Given the description of an element on the screen output the (x, y) to click on. 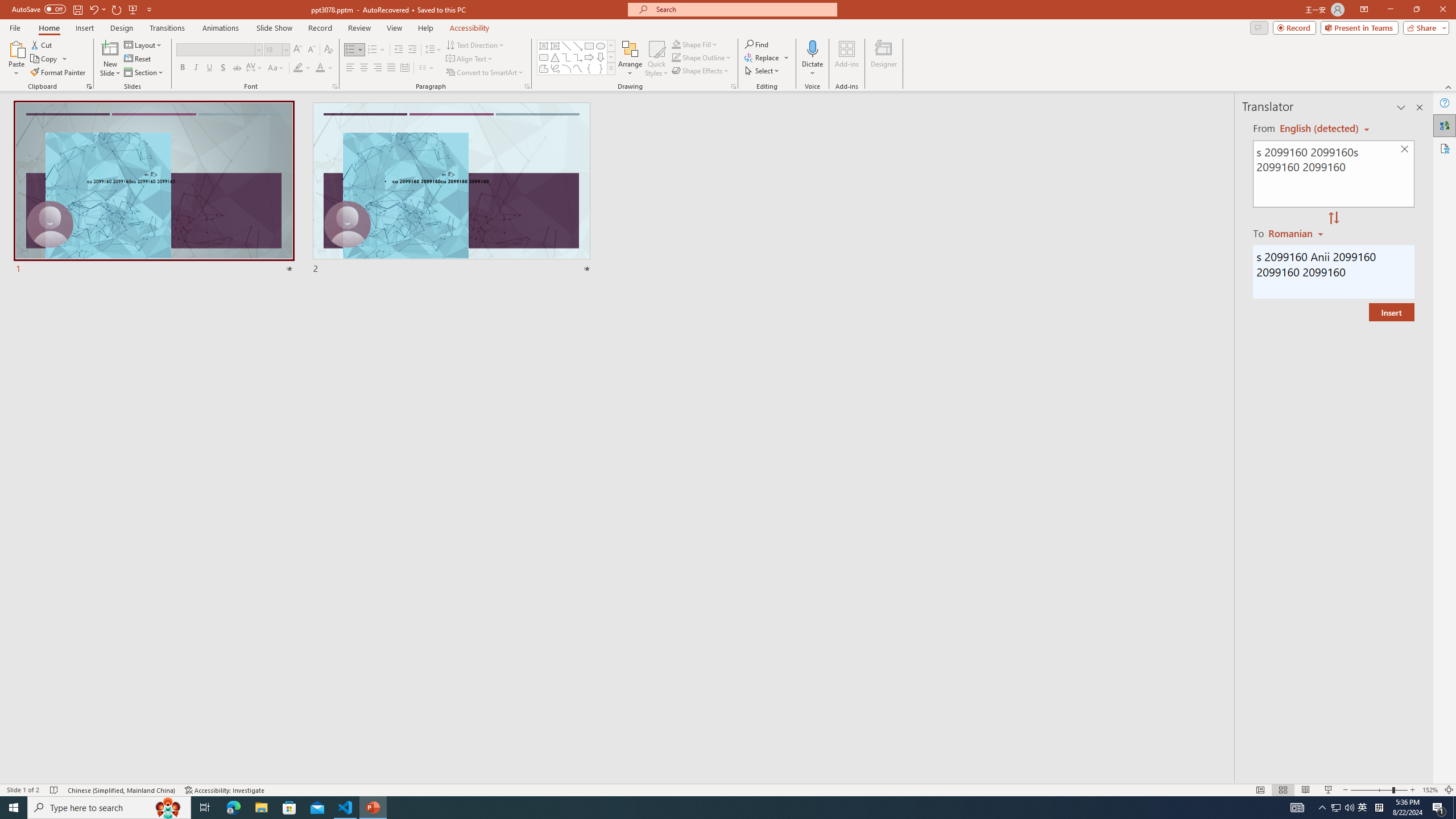
Shape Effects (700, 69)
